Given the description of an element on the screen output the (x, y) to click on. 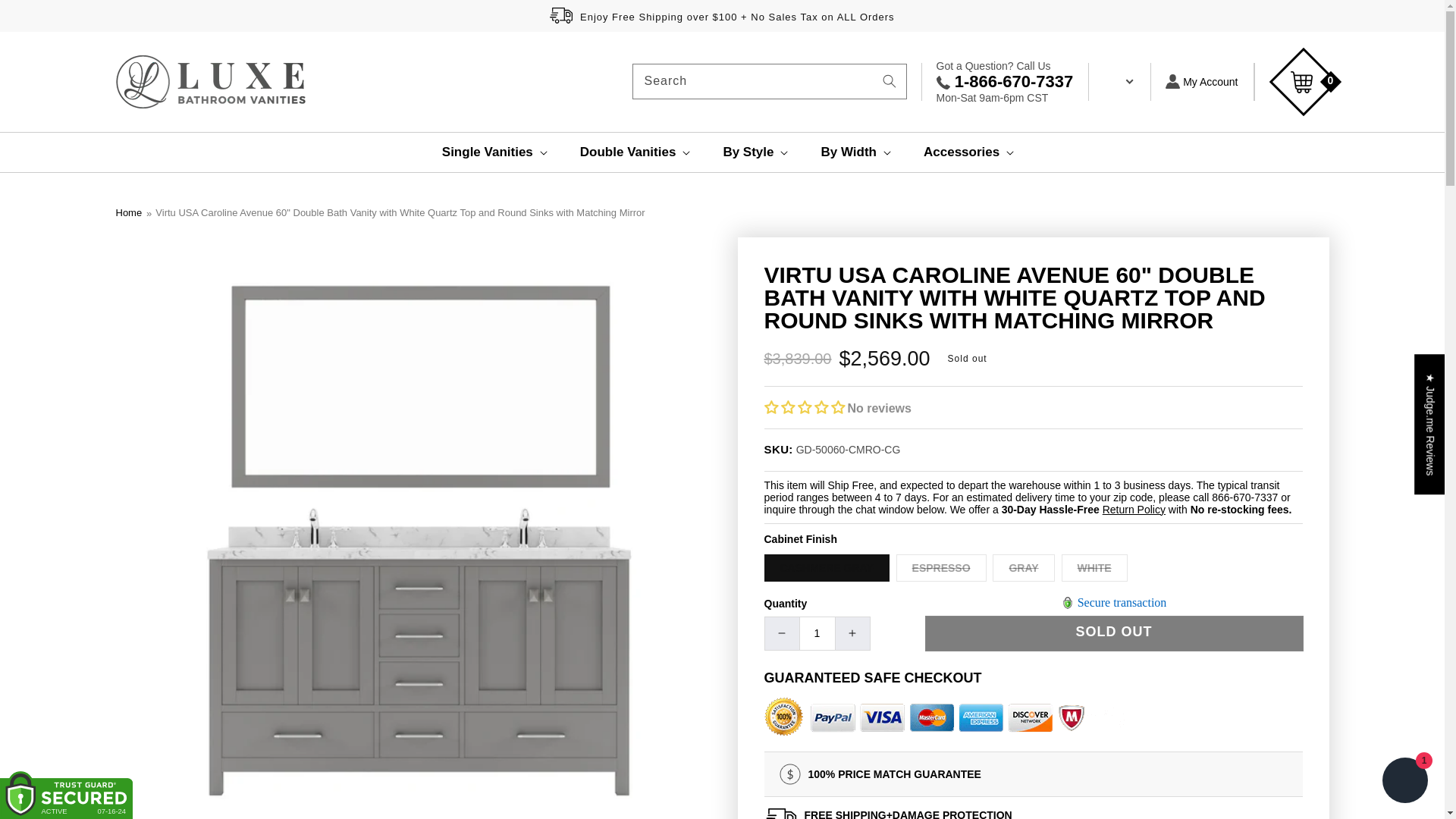
1 (817, 633)
SKIP TO CONTENT (45, 16)
